Given the description of an element on the screen output the (x, y) to click on. 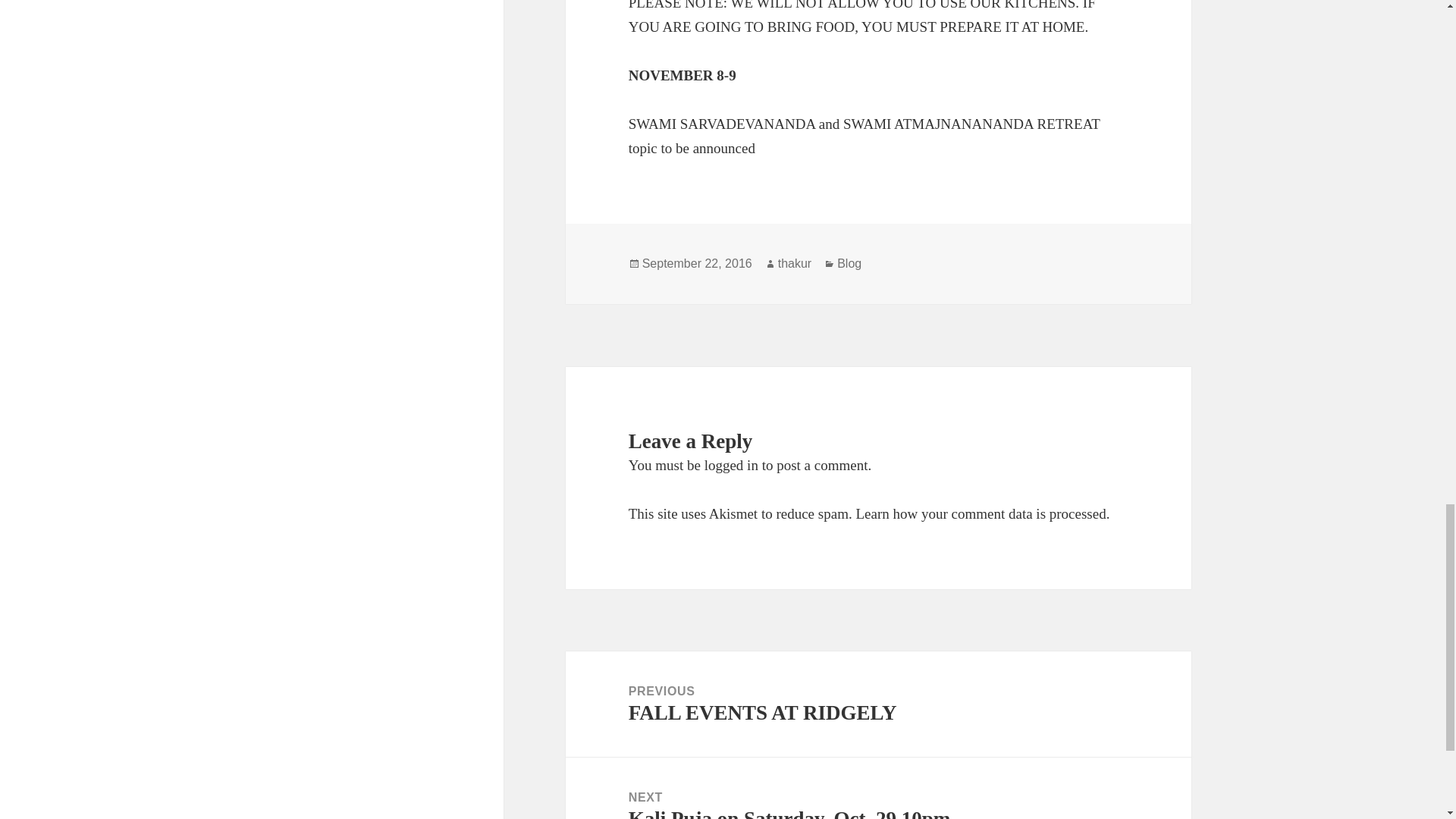
September 22, 2016 (878, 788)
Learn how your comment data is processed (697, 264)
logged in (980, 513)
thakur (731, 465)
Blog (878, 703)
